Given the description of an element on the screen output the (x, y) to click on. 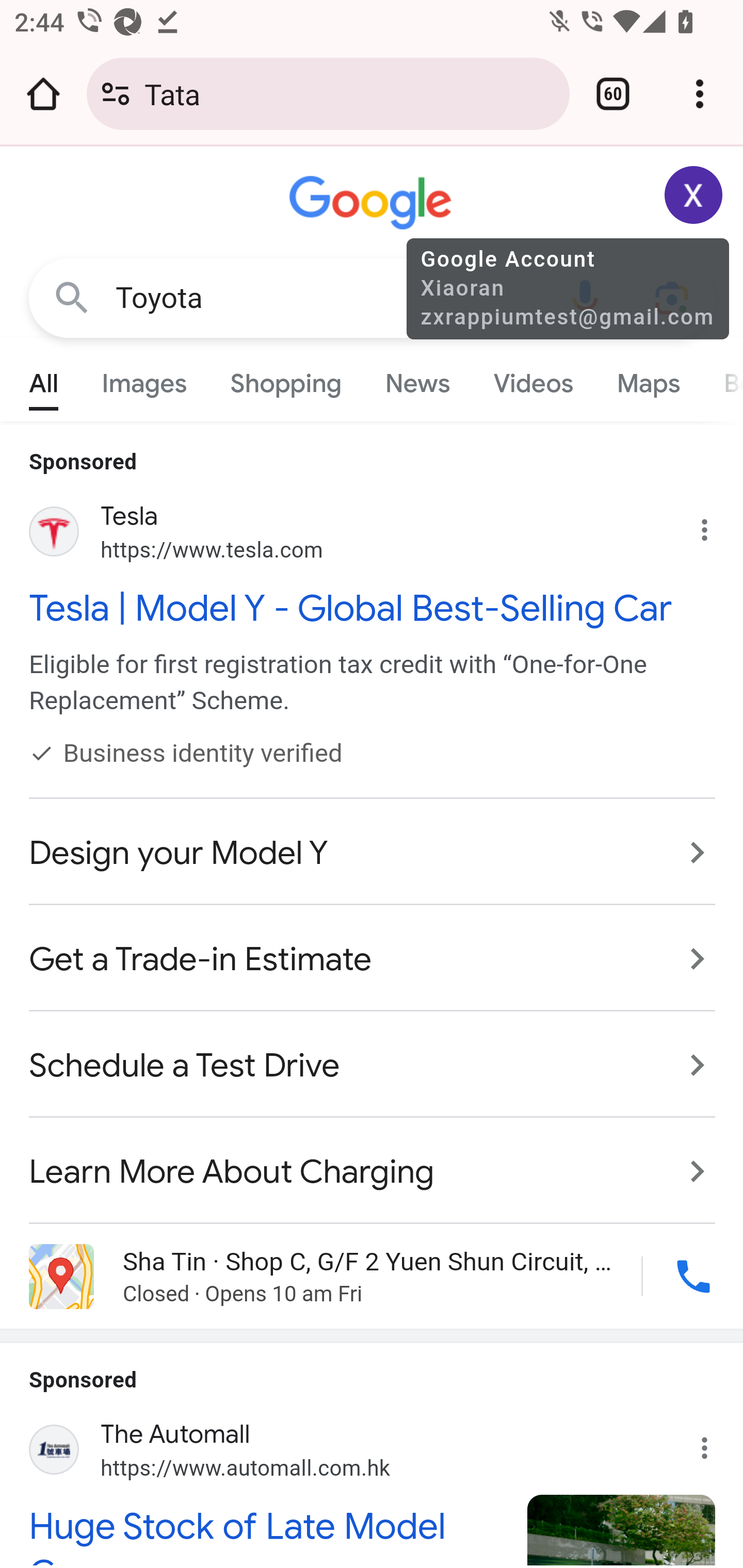
Open the home page (43, 93)
Connection is secure (115, 93)
Switch or close tabs (612, 93)
Customize and control Google Chrome (699, 93)
Tata (349, 92)
